Given the description of an element on the screen output the (x, y) to click on. 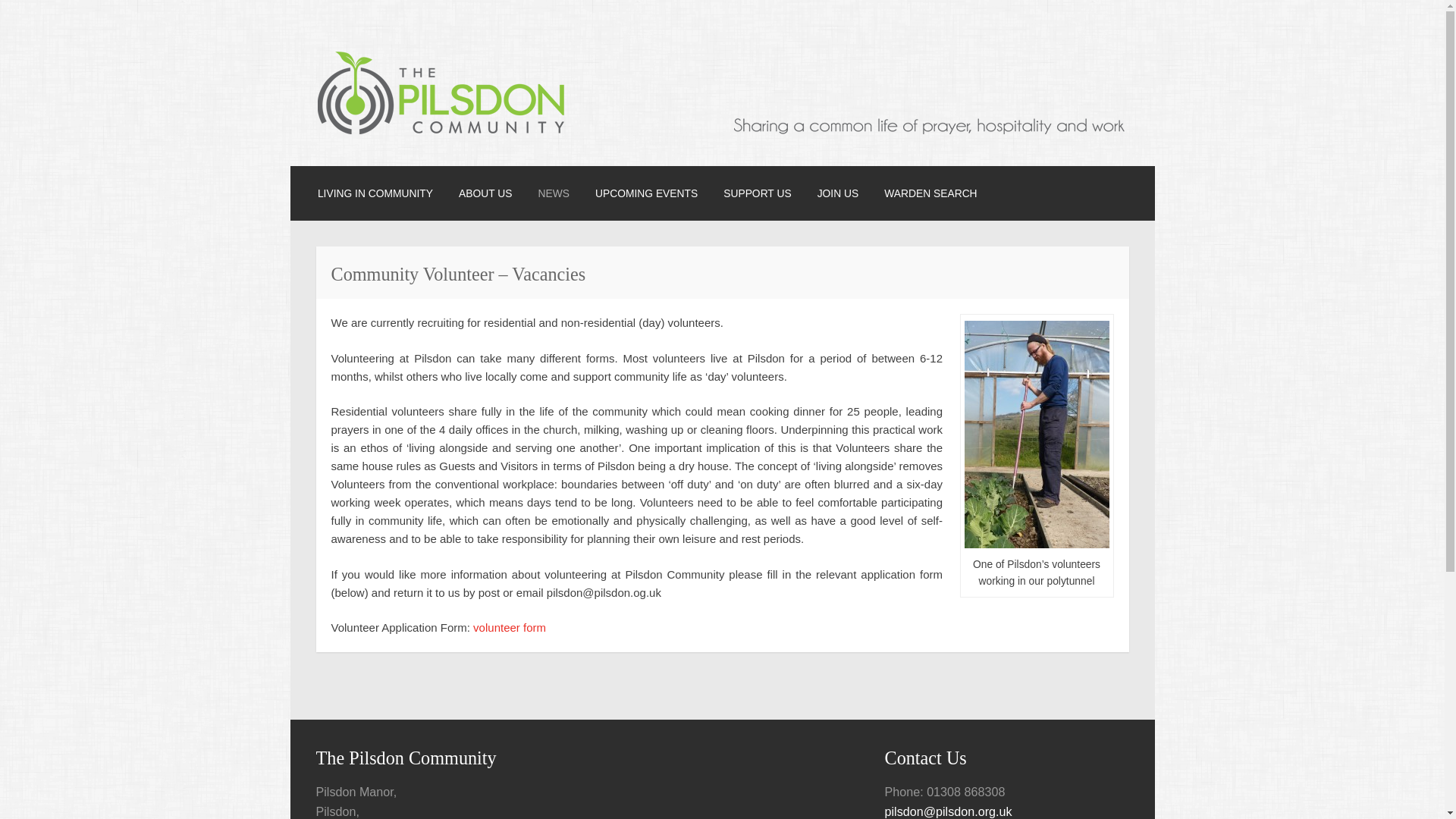
NEWS (553, 193)
The Pilsdon Community (470, 154)
volunteer form (509, 626)
SUPPORT US (756, 193)
JOIN US (837, 193)
ABOUT US (485, 193)
The Pilsdon Community (470, 154)
WARDEN SEARCH (929, 193)
The Pilsdon Community (721, 130)
UPCOMING EVENTS (646, 193)
LIVING IN COMMUNITY (374, 193)
